Given the description of an element on the screen output the (x, y) to click on. 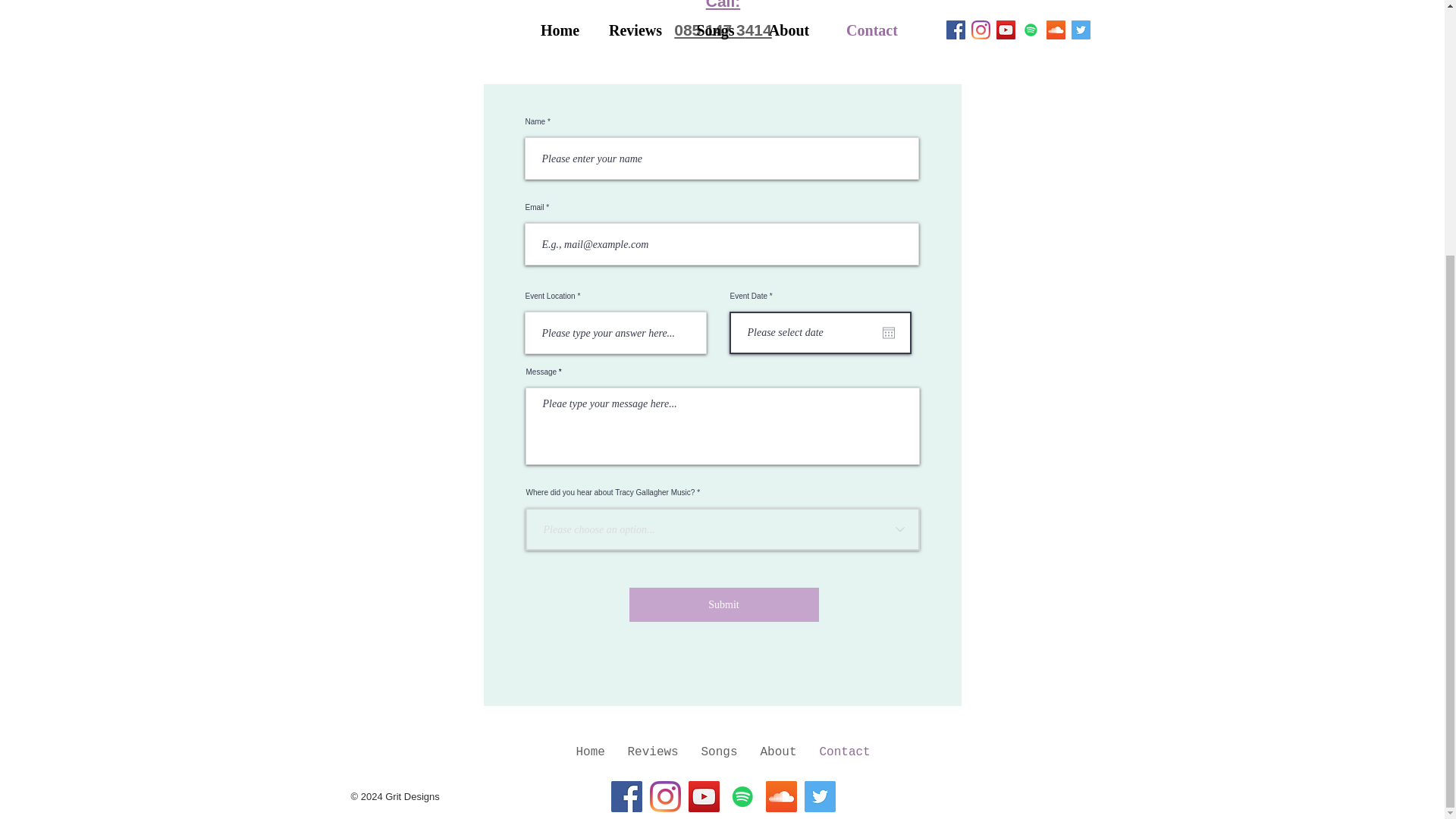
Home (589, 752)
Call: (723, 4)
085 147 3414 (722, 29)
Contact (845, 752)
About (778, 752)
Songs (719, 752)
Reviews (651, 752)
Submit (723, 604)
